Given the description of an element on the screen output the (x, y) to click on. 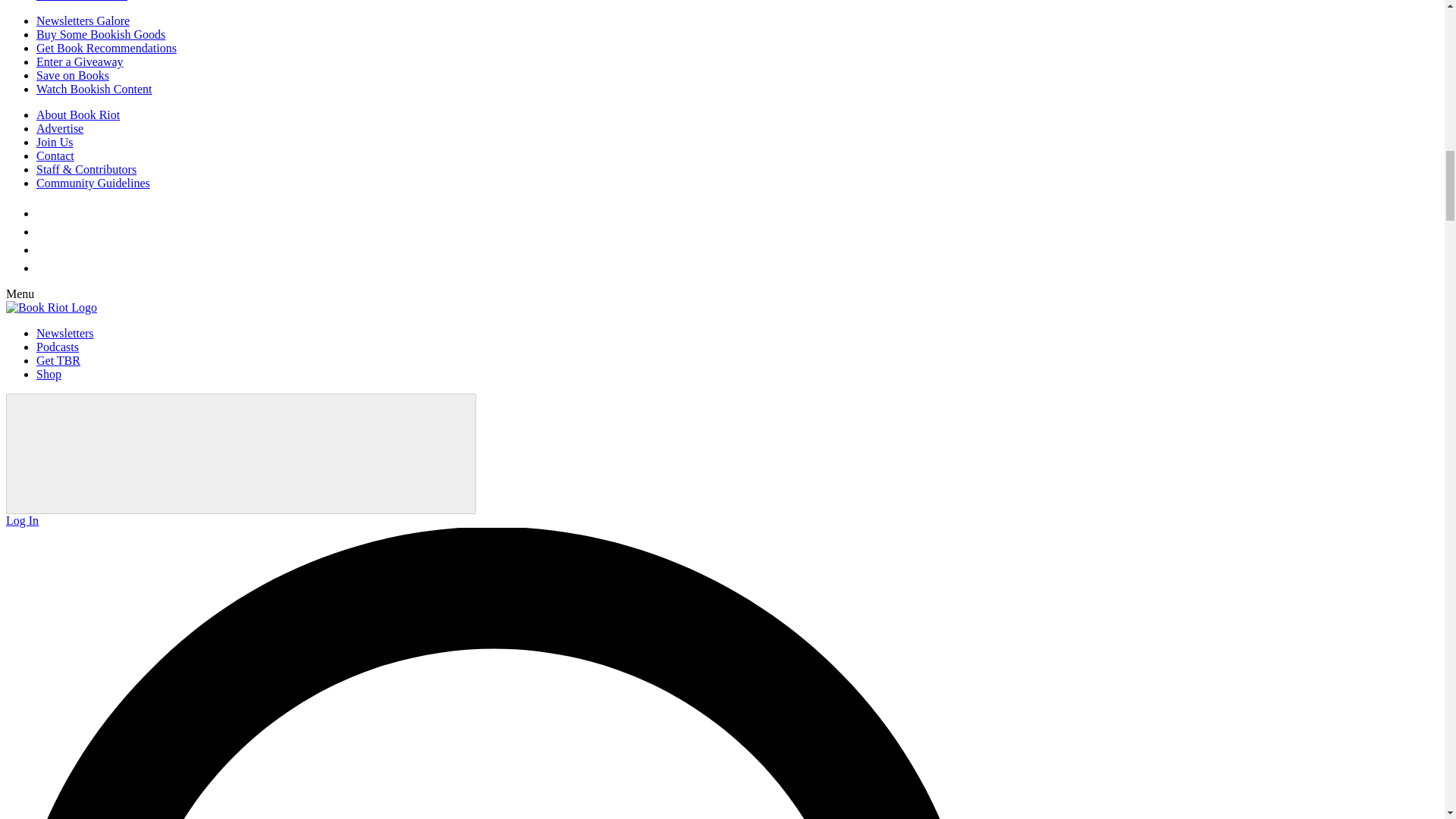
Enter a Giveaway (79, 61)
Join Us (54, 141)
Watch Bookish Content (93, 88)
Save on Books (72, 74)
Newsletters (65, 332)
Community Guidelines (92, 182)
Get TBR (58, 359)
Get Book Recommendations (106, 47)
Advertise (59, 128)
Buy Some Bookish Goods (100, 33)
Podcasts (57, 346)
Contact (55, 155)
Newsletters Galore (82, 20)
Shop (48, 373)
About Book Riot (77, 114)
